Given the description of an element on the screen output the (x, y) to click on. 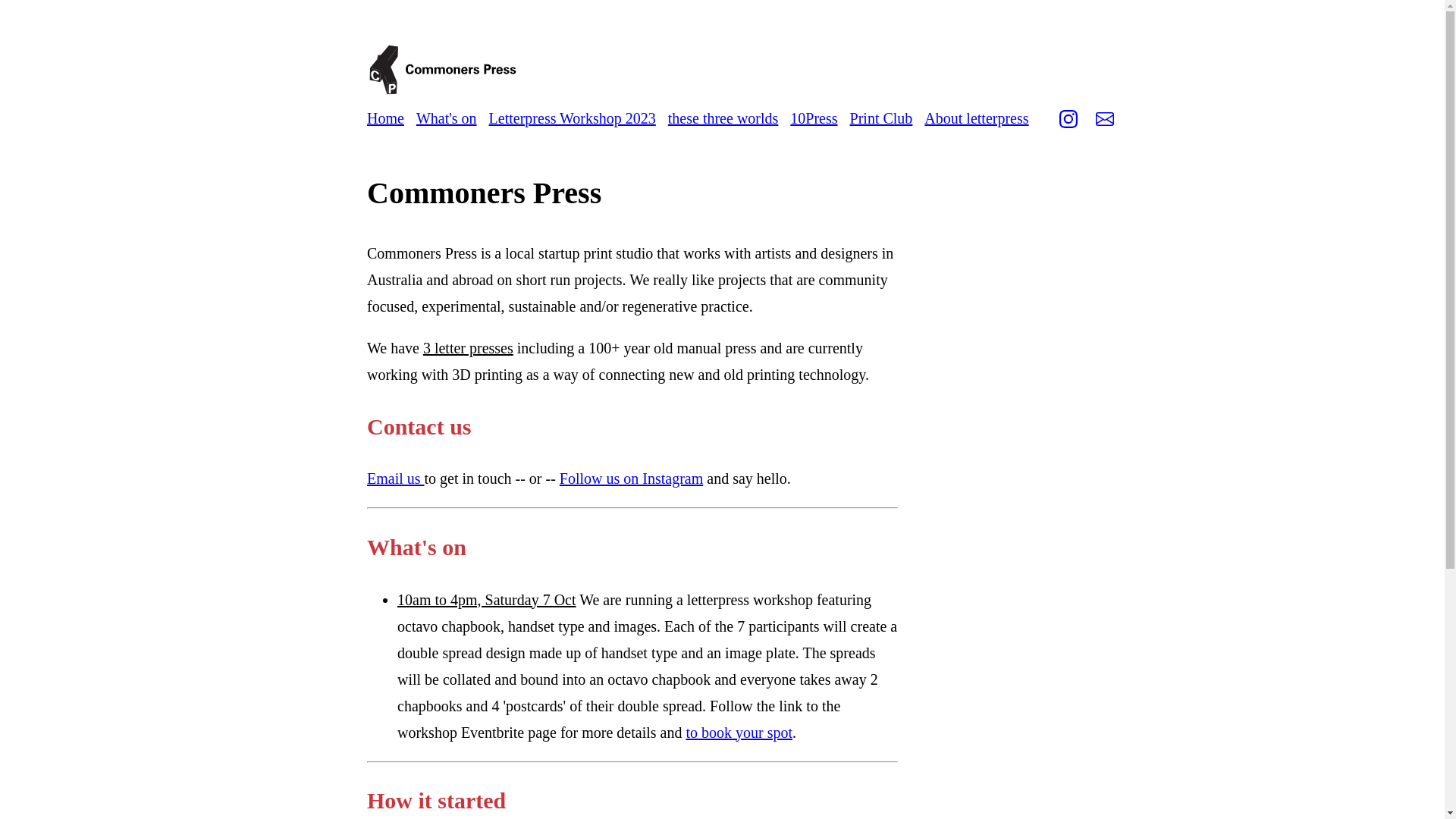
these three worlds Element type: text (723, 117)
Follow us on Instagram Element type: hover (1068, 120)
About letterpress Element type: text (976, 117)
Home Element type: text (385, 117)
10Press Element type: text (813, 117)
to book your spot Element type: text (738, 732)
Email us Element type: text (395, 478)
Send an email Element type: hover (1104, 120)
Letterpress Workshop 2023 Element type: text (572, 117)
What's on Element type: text (446, 117)
Follow us on Instagram Element type: text (630, 478)
Print Club Element type: text (881, 117)
